Given the description of an element on the screen output the (x, y) to click on. 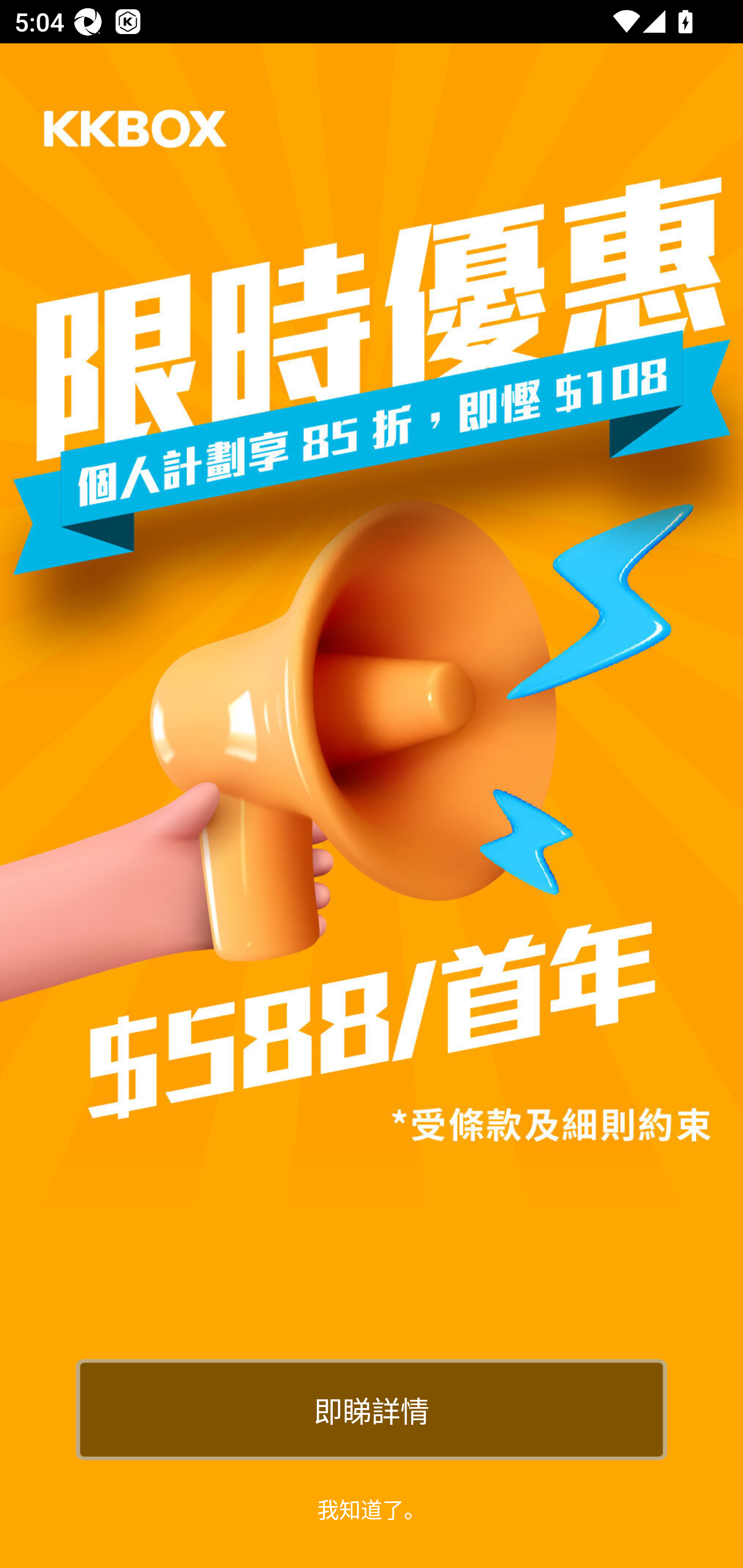
即睇詳情 (371, 1409)
我知道了。 (371, 1508)
